Given the description of an element on the screen output the (x, y) to click on. 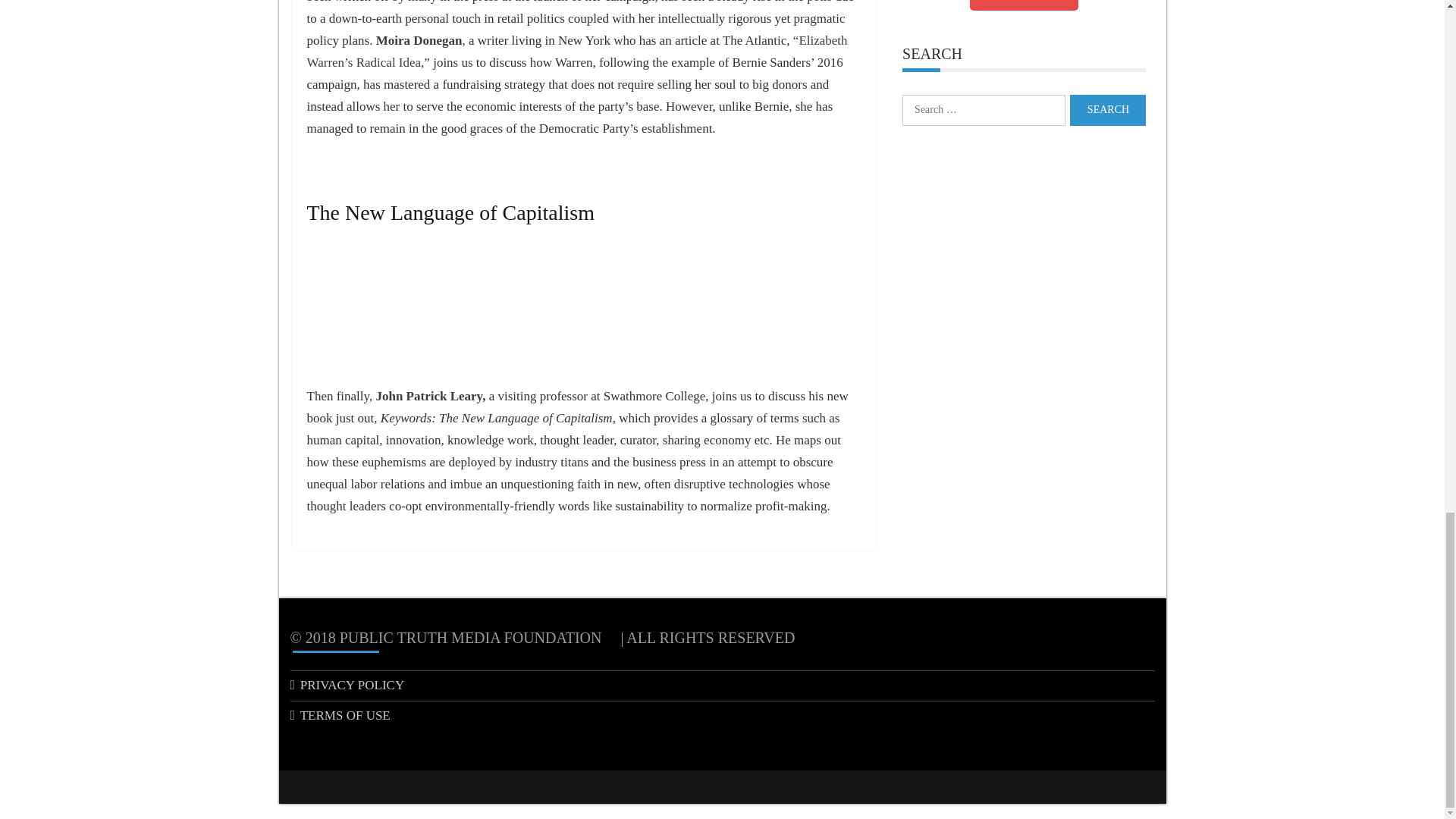
Search (1107, 110)
, John Patrick Leary,  (429, 396)
Moira Donegan, (420, 40)
Search (1107, 110)
